Given the description of an element on the screen output the (x, y) to click on. 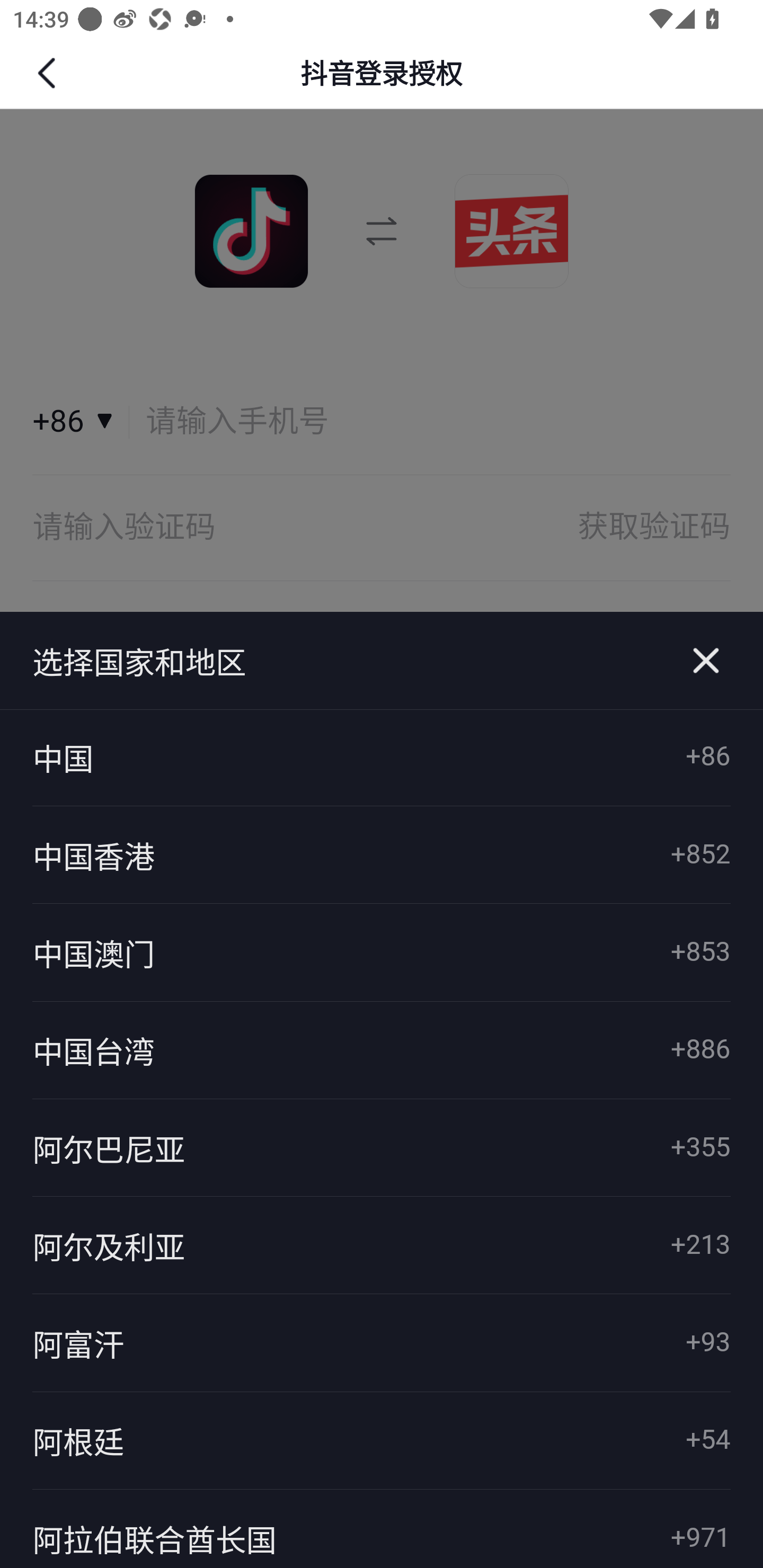
返回 (49, 72)
关闭 (705, 660)
中国+86 (381, 757)
中国香港+852 (381, 854)
中国澳门+853 (381, 952)
中国台湾+886 (381, 1049)
阿尔巴尼亚+355 (381, 1147)
阿尔及利亚+213 (381, 1245)
阿富汗+93 (381, 1343)
阿根廷+54 (381, 1440)
阿拉伯联合酋长国+971 (381, 1528)
